Given the description of an element on the screen output the (x, y) to click on. 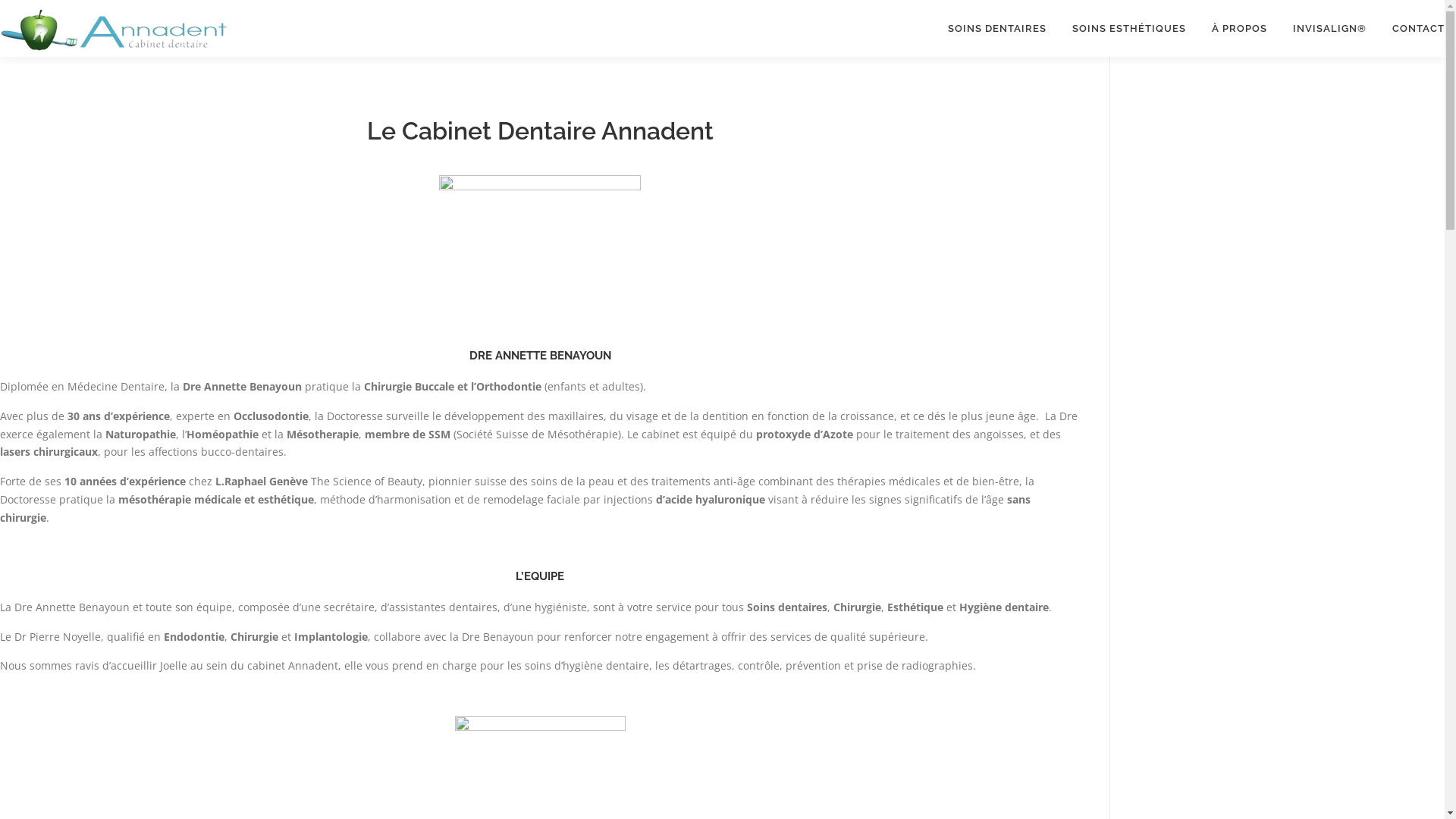
Aller au contenu Element type: text (42, 9)
SOINS DENTAIRES Element type: text (997, 28)
CONTACT Element type: text (1411, 28)
